Given the description of an element on the screen output the (x, y) to click on. 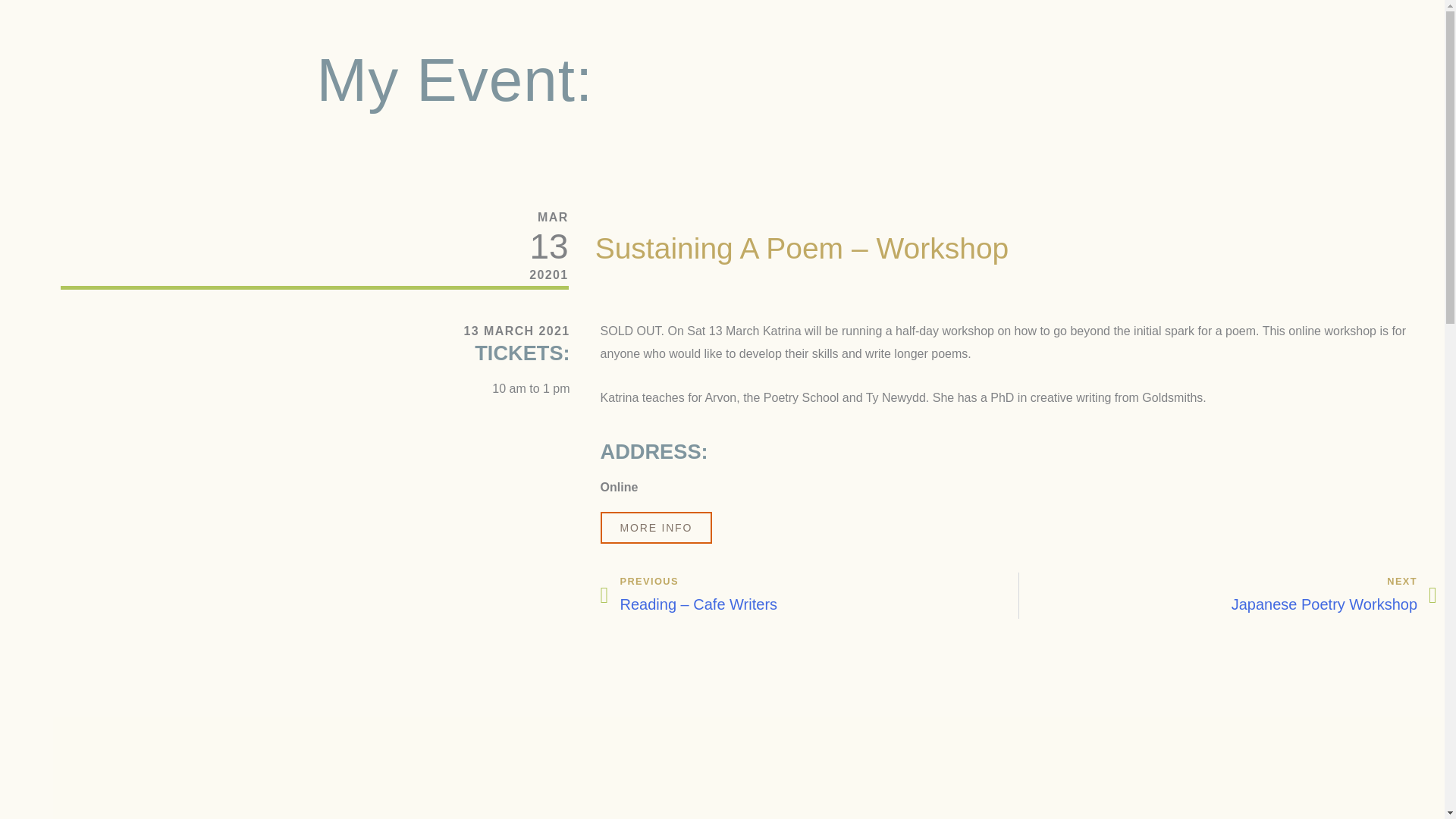
MORE INFO (1228, 595)
